Given the description of an element on the screen output the (x, y) to click on. 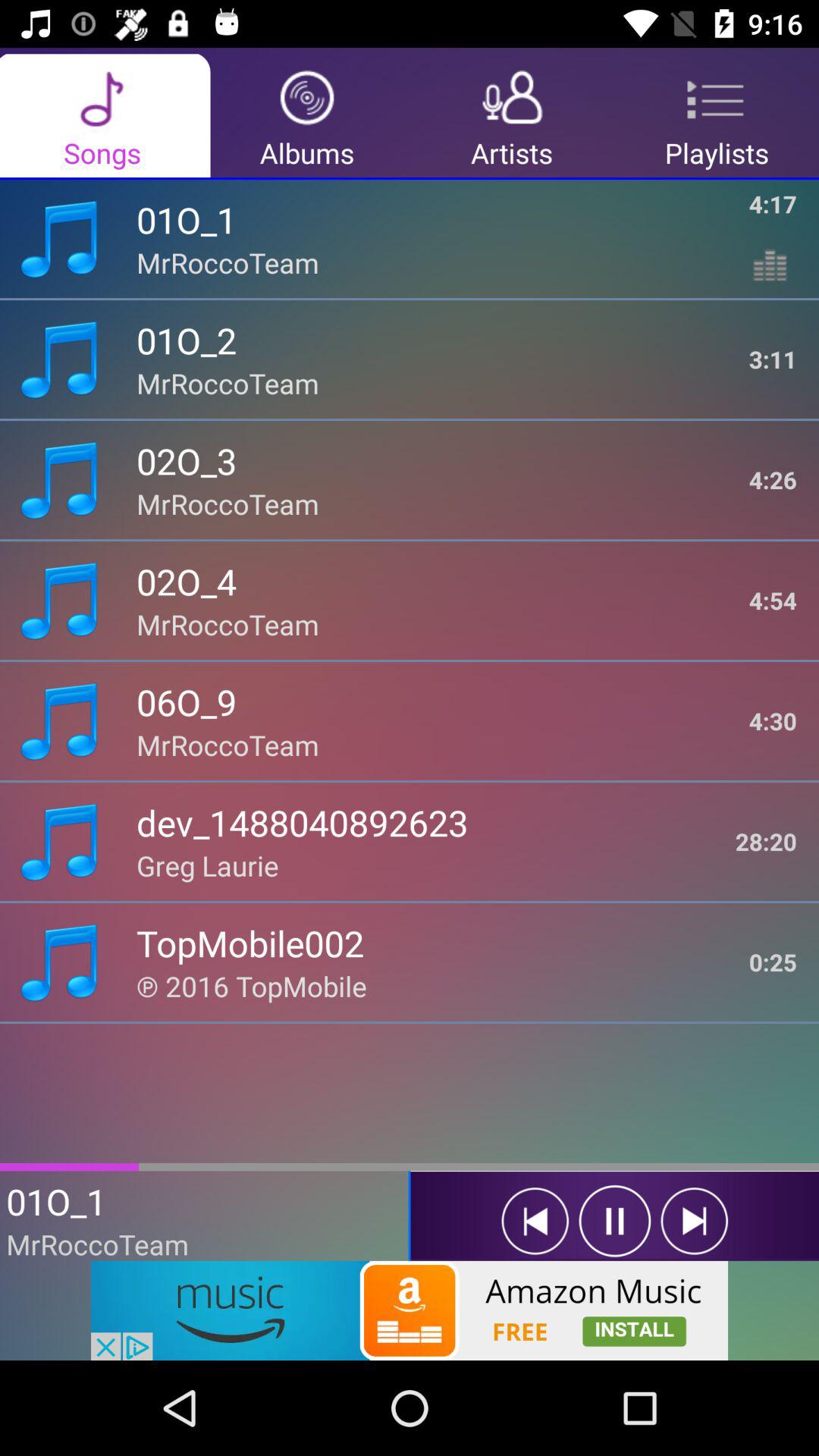
prevous song to play (535, 1220)
